Given the description of an element on the screen output the (x, y) to click on. 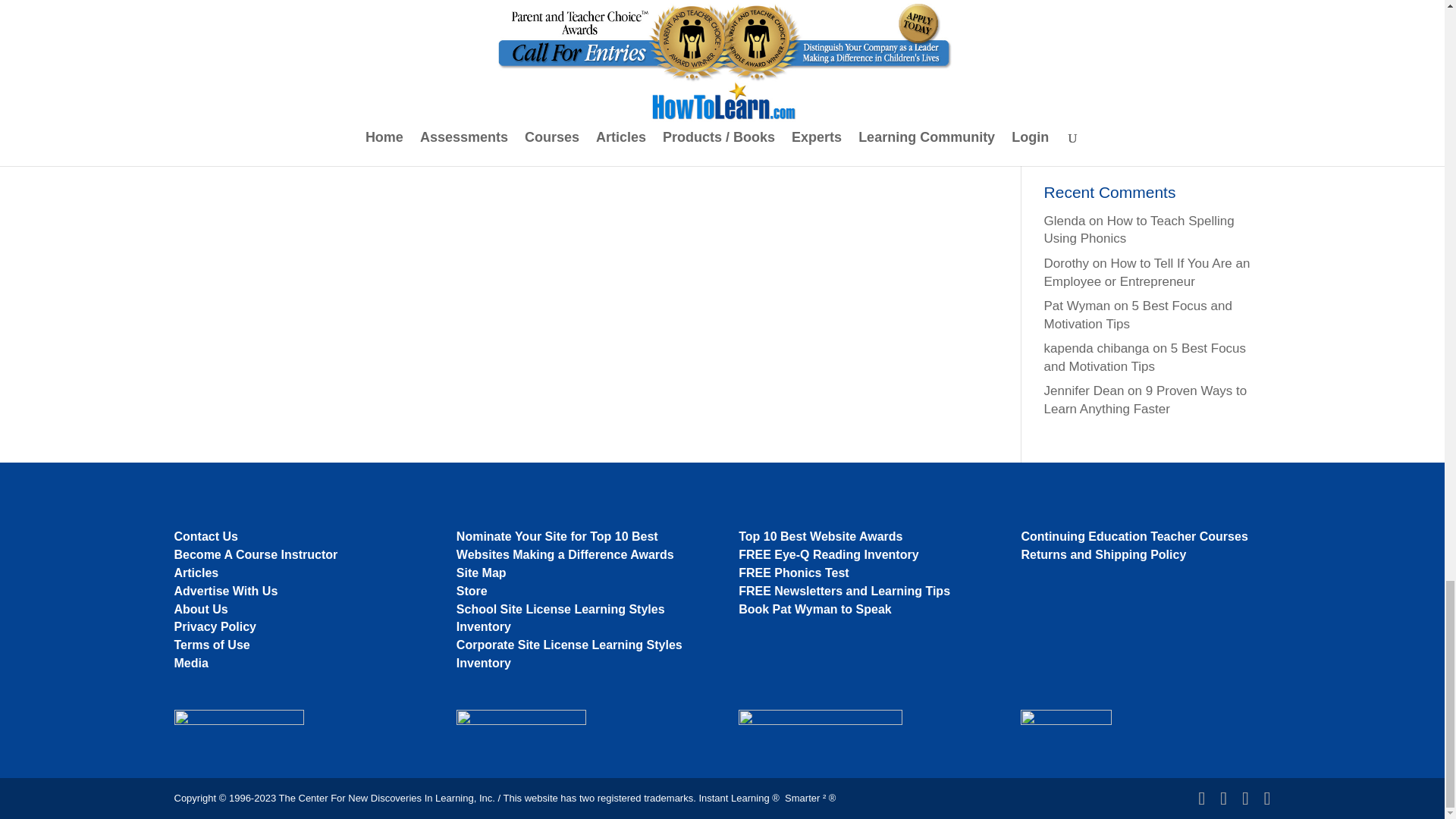
9 Proven Ways to Learn Anything Faster (1145, 400)
27 Education Storybook Activities to Improve Literacy (1146, 139)
Contact Us (206, 535)
Become A Course Instructor (255, 554)
5 Best Focus and Motivation Tips (1144, 357)
7 Most Common Reading Problems and How to Fix Them (1145, 29)
Advertise With Us (226, 590)
21 Interactive Reading Strategies for Pre-Kindergarten (1148, 96)
5 Essential Techniques to Teach Sight Words to Children (1151, 2)
5 Best Focus and Motivation Tips (1137, 314)
Best Program for Struggling Readers (1149, 63)
Privacy Policy (215, 626)
Pat Wyman (1076, 305)
About Us (201, 608)
Articles (196, 572)
